Given the description of an element on the screen output the (x, y) to click on. 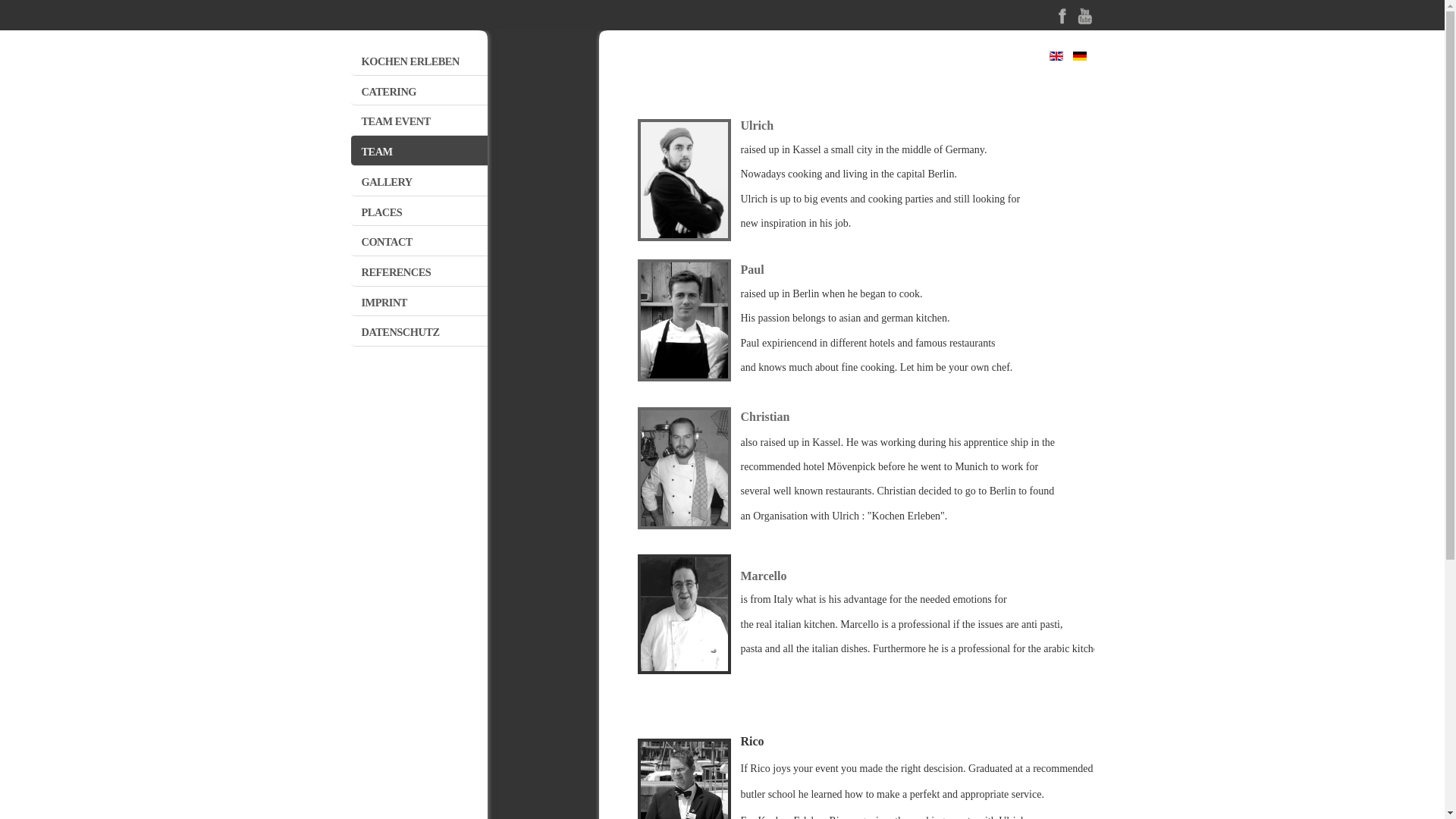
Facebook (1061, 21)
KOCHEN ERLEBEN (418, 60)
IMPRINT (418, 301)
REFERENCES (418, 270)
CATERING (418, 90)
GALLERY (418, 180)
DATENSCHUTZ (418, 330)
Youtube (1084, 21)
PLACES (418, 211)
TEAM EVENT (418, 120)
CONTACT (418, 240)
deutsch (1078, 55)
TEAM (418, 150)
